Given the description of an element on the screen output the (x, y) to click on. 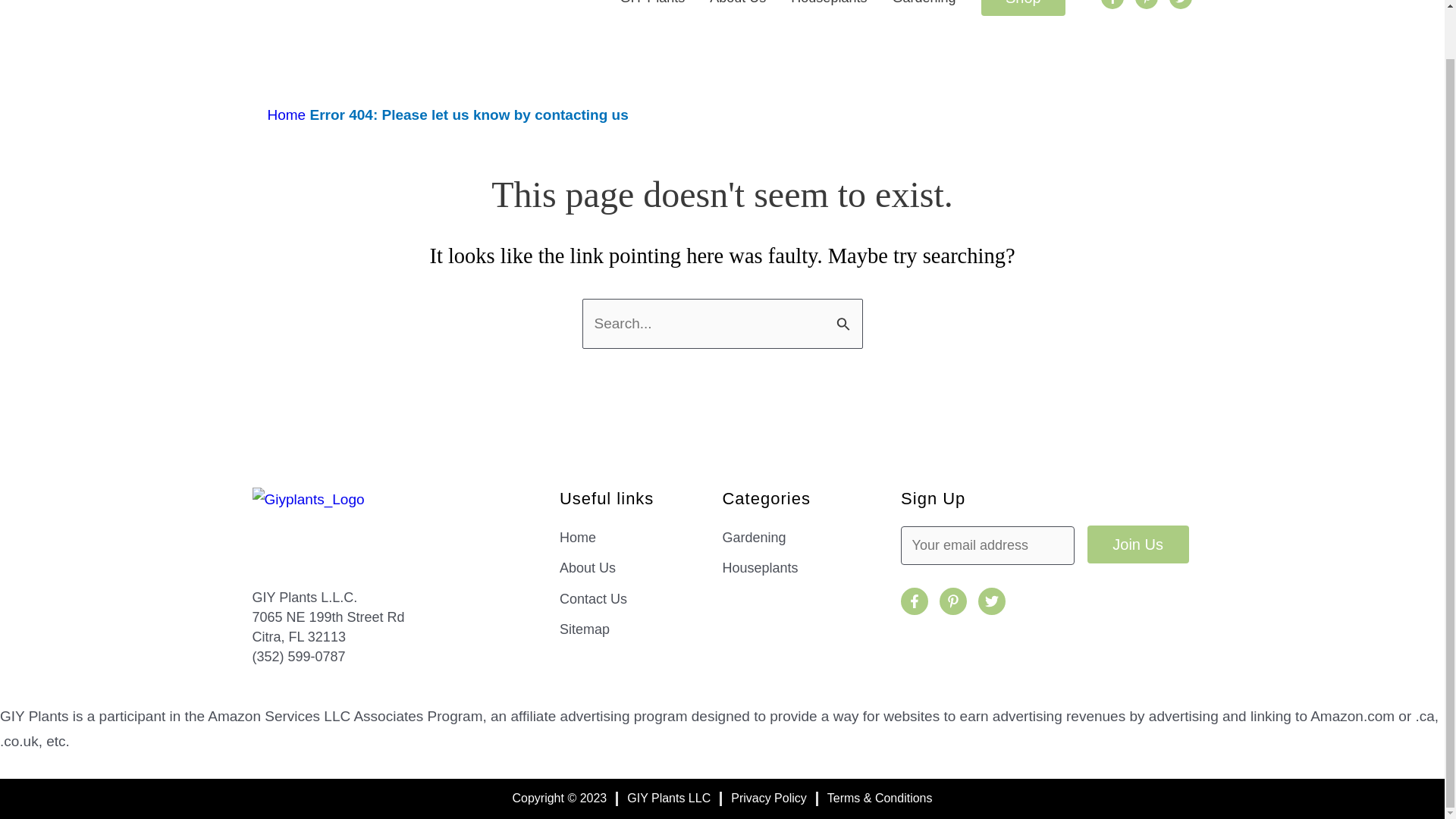
Gardening (922, 5)
Search (844, 315)
Twitter (1180, 4)
Gardening (811, 537)
Home (285, 114)
 Join Us (1137, 544)
Houseplants (811, 567)
Shop (1023, 7)
About Us (737, 5)
Contact Us (640, 598)
Sitemap (640, 629)
GIY Plants LLC (668, 798)
Privacy Policy (768, 798)
Facebook-f (1112, 4)
 Join Us (1137, 544)
